Given the description of an element on the screen output the (x, y) to click on. 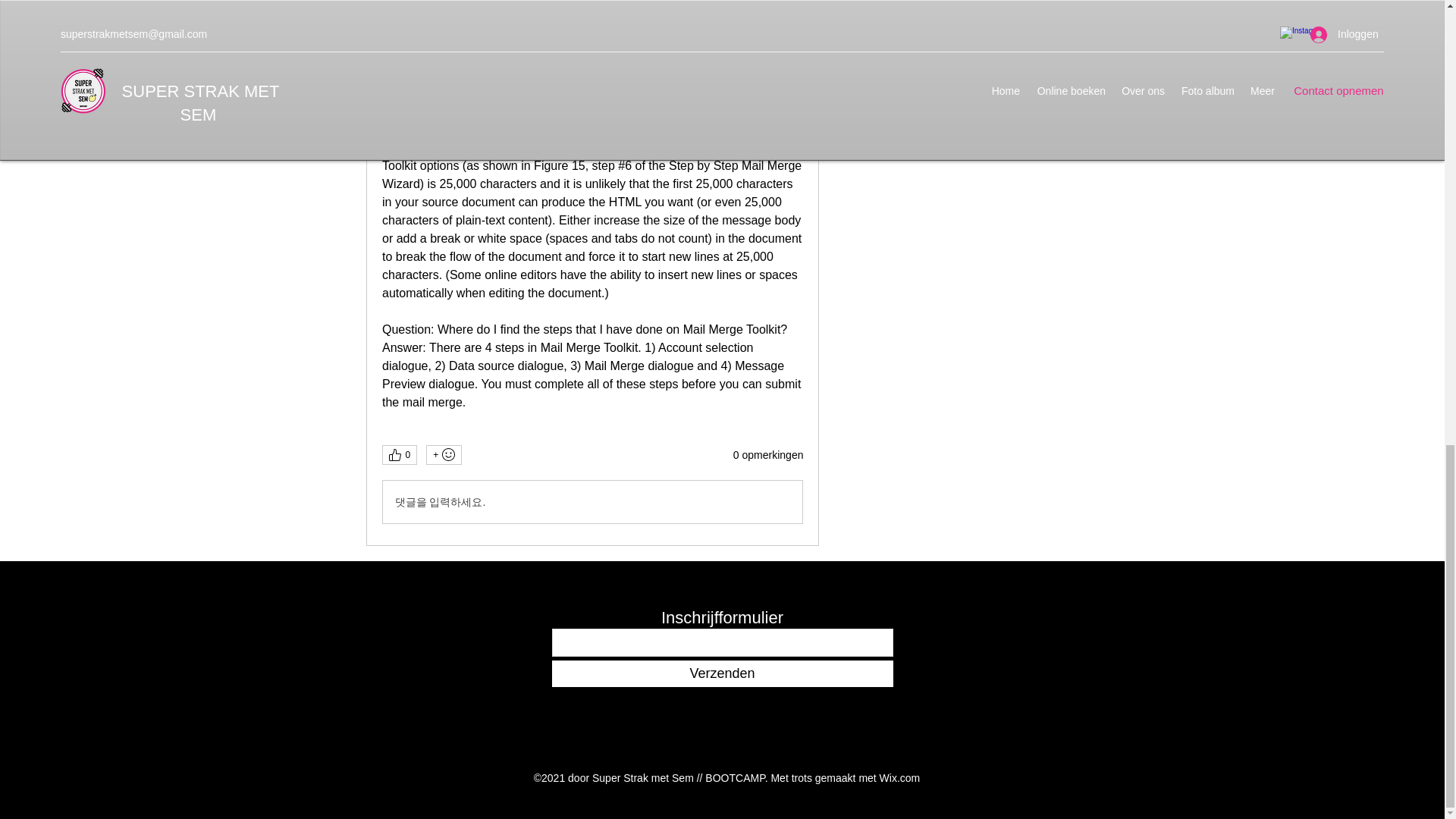
Download (591, 25)
0 opmerkingen (768, 455)
Verzenden (722, 673)
